Given the description of an element on the screen output the (x, y) to click on. 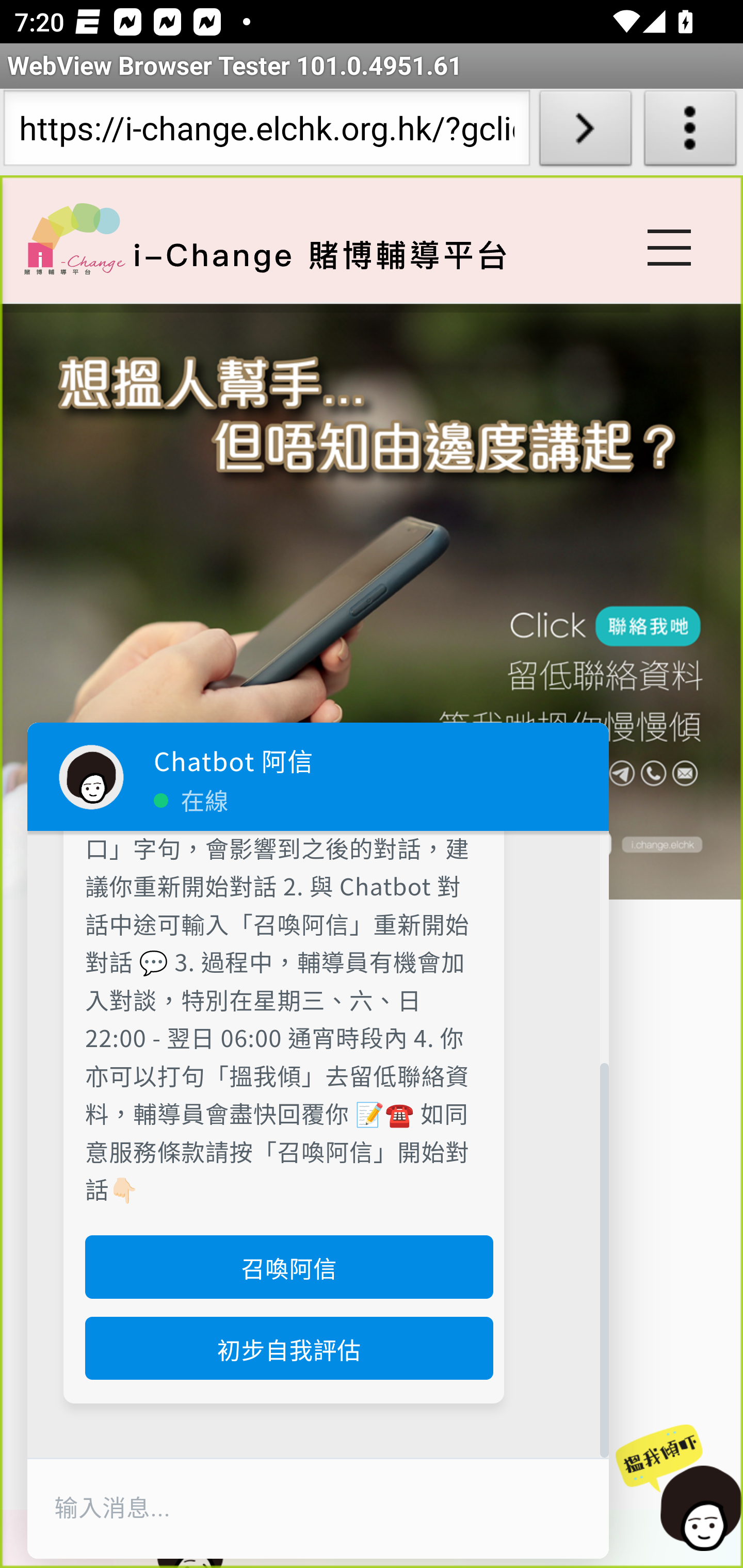
Load URL (585, 132)
About WebView (690, 132)
Home (74, 238)
Chat Now (679, 1488)
